Given the description of an element on the screen output the (x, y) to click on. 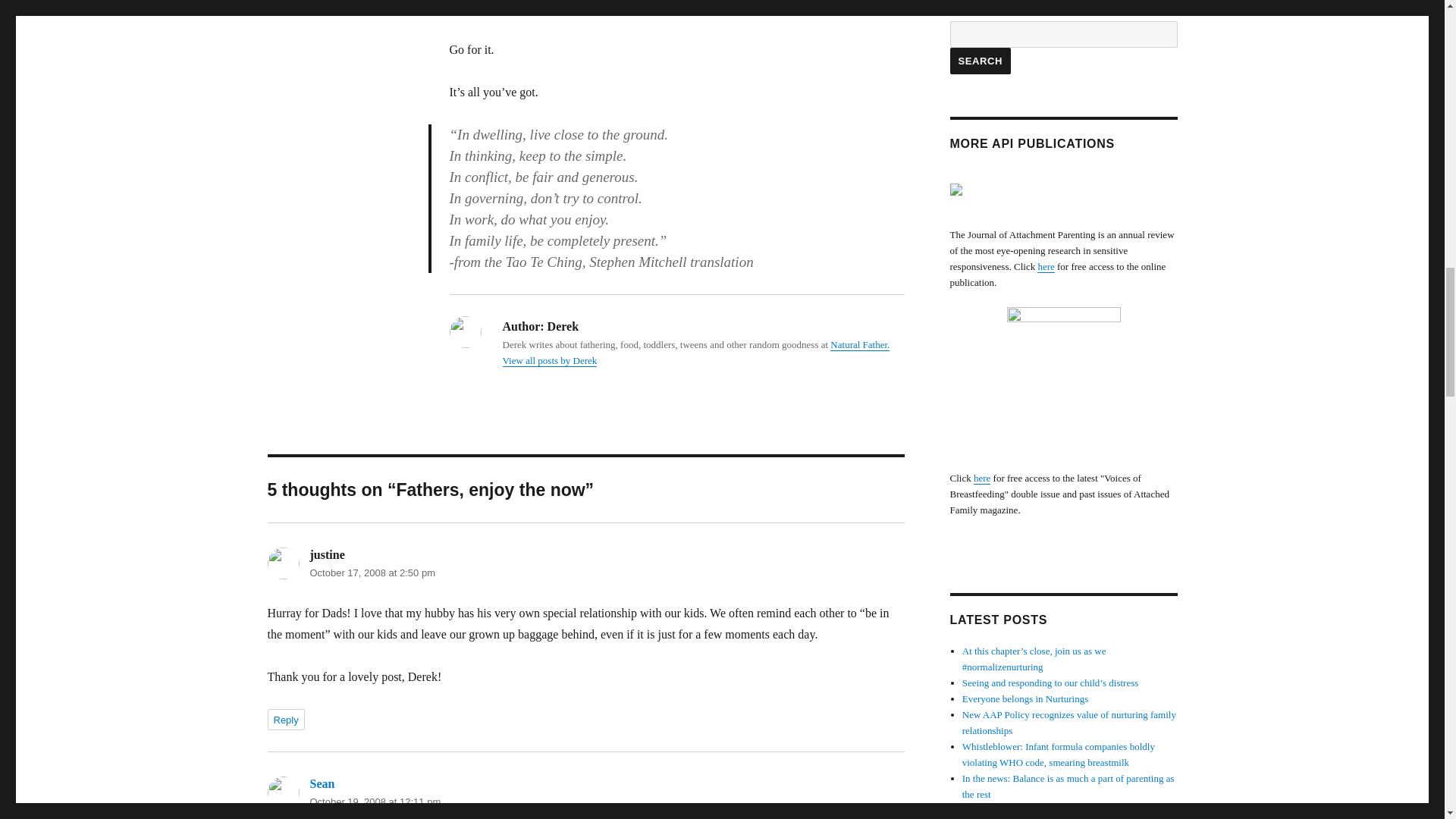
Sean (321, 783)
October 17, 2008 at 2:50 pm (371, 572)
Reply (285, 719)
Natural Father. (859, 344)
Search (979, 60)
October 19, 2008 at 12:11 pm (374, 801)
View all posts by Derek (549, 360)
